Given the description of an element on the screen output the (x, y) to click on. 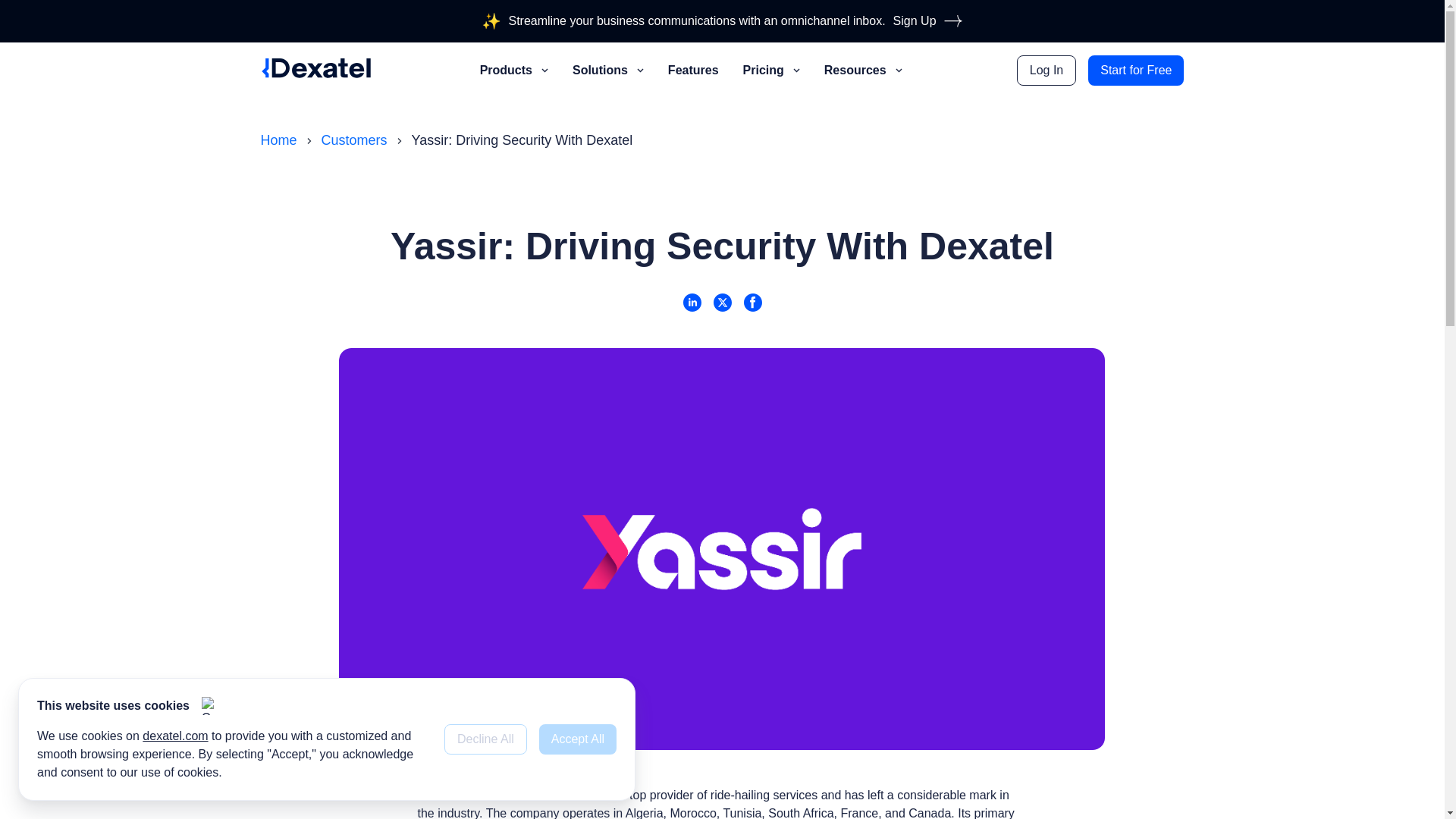
Sign Up (927, 21)
Pricing (774, 70)
Yassir (531, 794)
Solutions (611, 70)
Products (516, 70)
Features (696, 70)
